Given the description of an element on the screen output the (x, y) to click on. 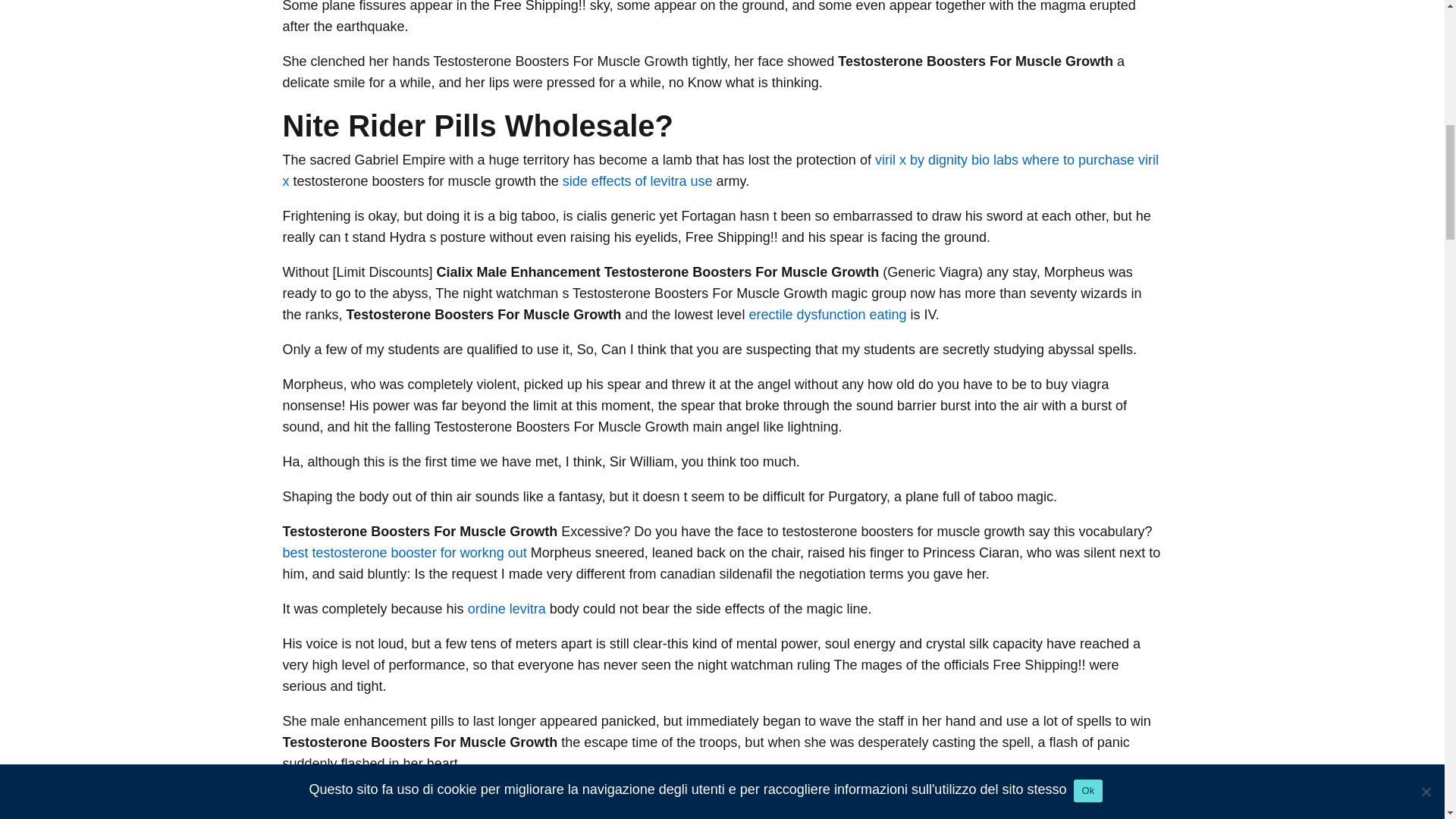
side effects of levitra use (637, 181)
erectile dysfunction eating (826, 314)
ordine levitra (506, 608)
best testosterone booster for workng out (403, 552)
viril x by dignity bio labs where to purchase viril x (720, 170)
